Given the description of an element on the screen output the (x, y) to click on. 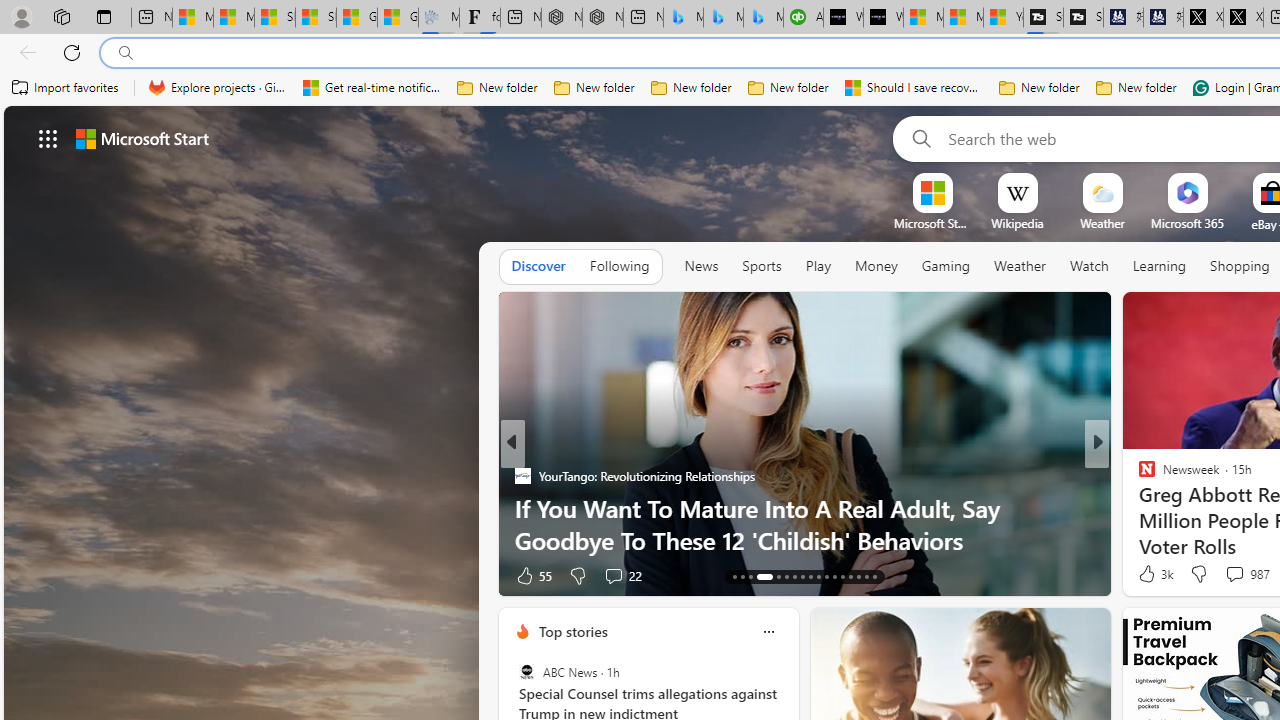
Streaming Coverage | T3 (1043, 17)
Microsoft Bing Travel - Shangri-La Hotel Bangkok (763, 17)
View comments 156 Comment (11, 575)
Accounting Software for Accountants, CPAs and Bookkeepers (803, 17)
AutomationID: tab-24 (833, 576)
45 Like (1149, 574)
View comments 85 Comment (1229, 575)
AutomationID: tab-19 (793, 576)
Weather (1020, 265)
Wikipedia (1017, 223)
